Given the description of an element on the screen output the (x, y) to click on. 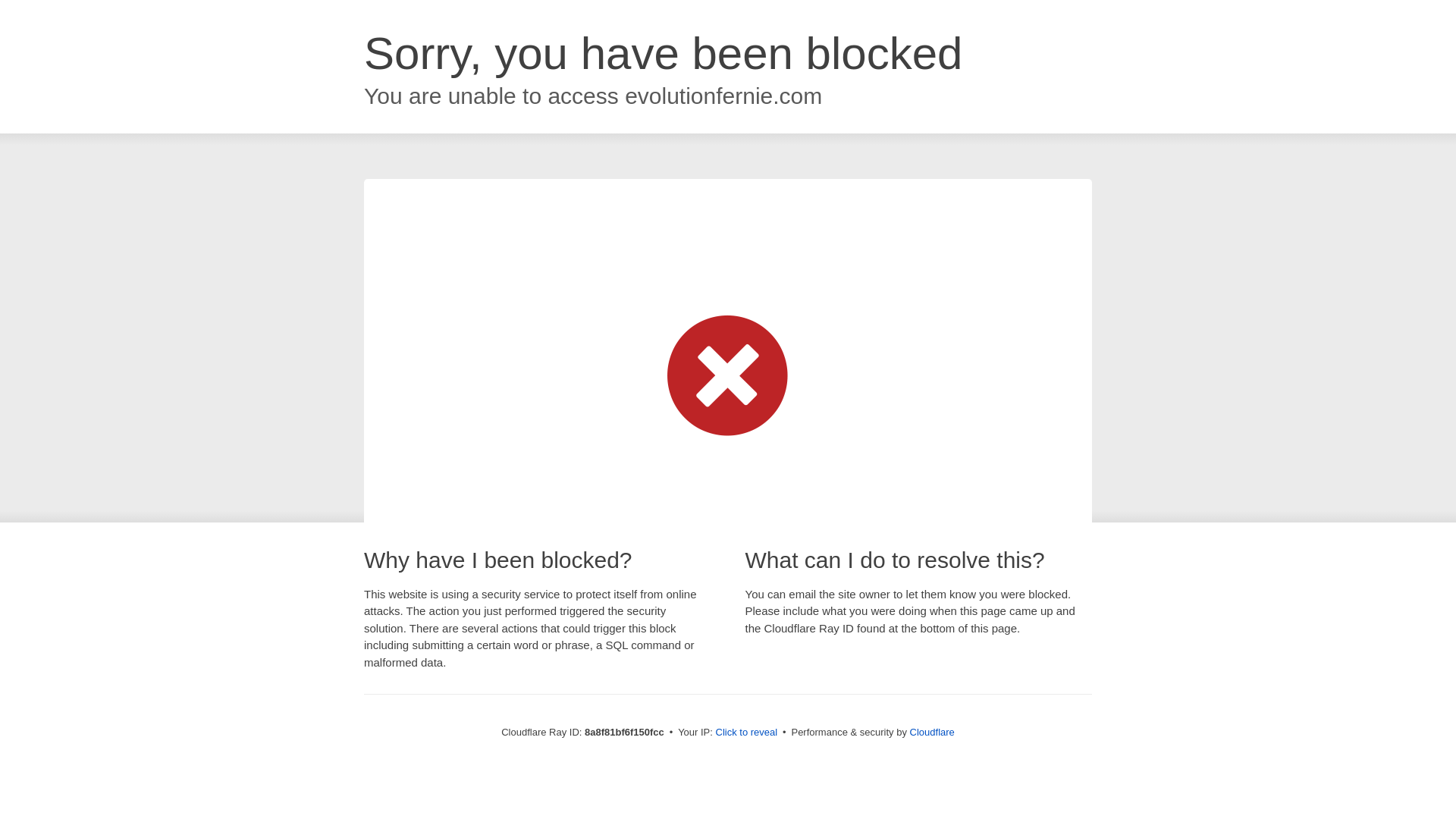
Click to reveal (746, 732)
Cloudflare (932, 731)
